Given the description of an element on the screen output the (x, y) to click on. 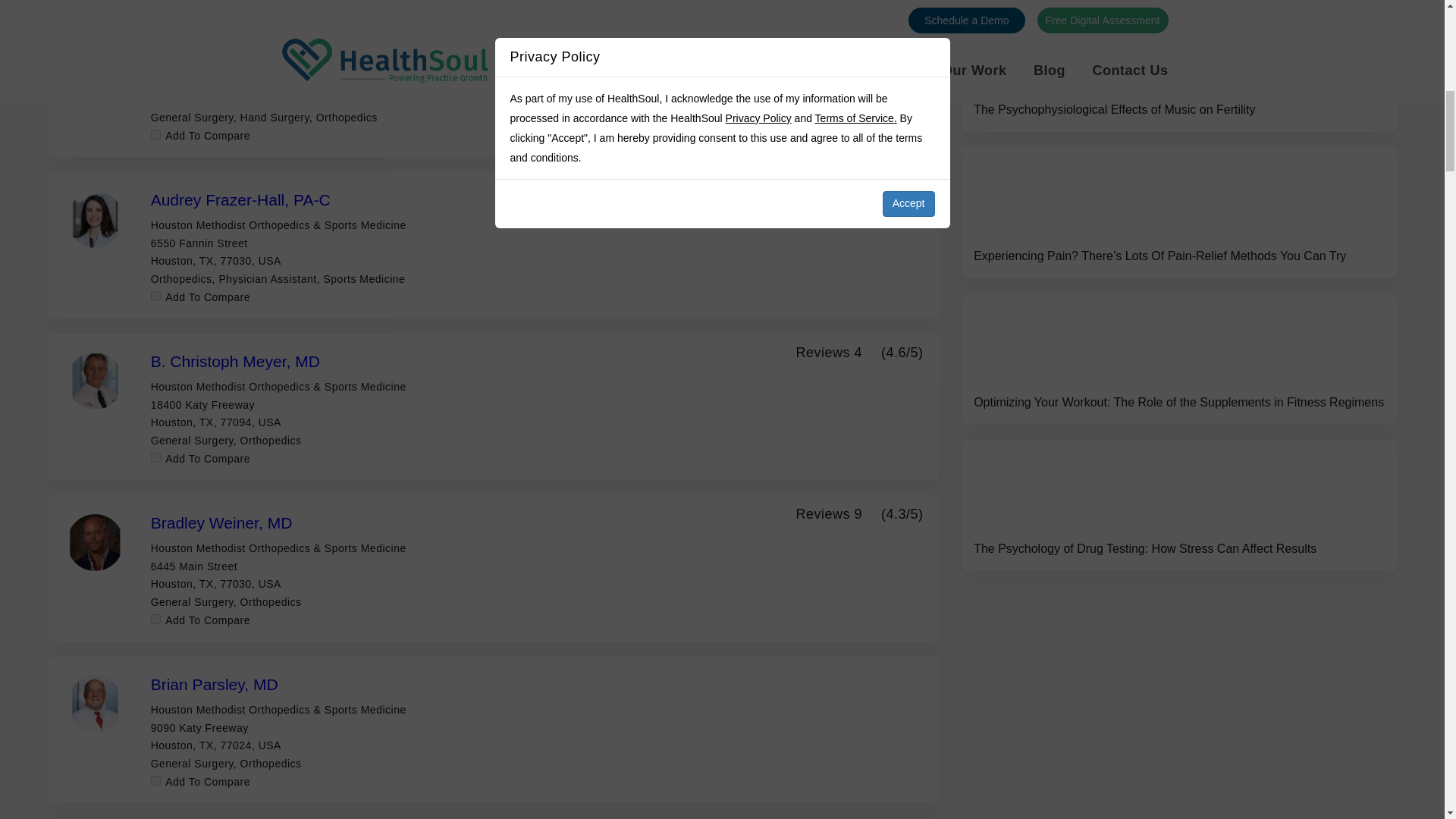
B. Christoph Meyer, MD (235, 361)
B. Christoph Meyer, MD (235, 361)
Alan Rosen, MD (208, 37)
1653349 (155, 457)
Bradley Weiner, MD (221, 522)
Alan Rosen, MD (208, 37)
Audrey Frazer-Hall, PA-C (240, 199)
1653218 (155, 619)
1653067 (155, 134)
1653195 (155, 296)
Bradley Weiner, MD (221, 522)
Brian Parsley, MD (214, 683)
Brian Parsley, MD (214, 683)
Audrey Frazer-Hall, PA-C (240, 199)
1728574 (155, 780)
